Given the description of an element on the screen output the (x, y) to click on. 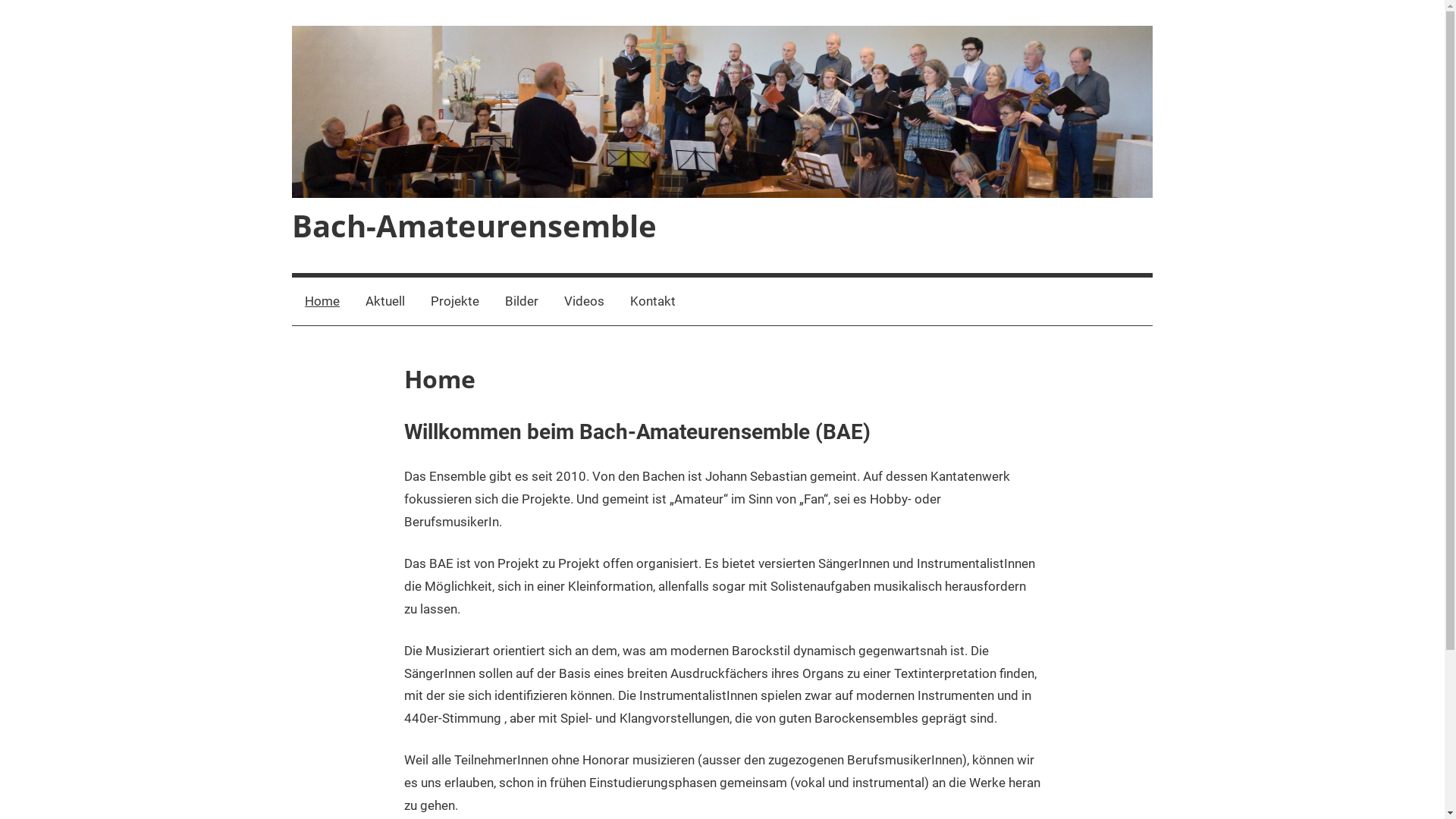
Videos Element type: text (584, 301)
Bach-Amateurensemble Element type: text (473, 225)
Home Element type: text (321, 301)
Bilder Element type: text (521, 301)
Kontakt Element type: text (652, 301)
Aktuell Element type: text (384, 301)
Projekte Element type: text (454, 301)
